Given the description of an element on the screen output the (x, y) to click on. 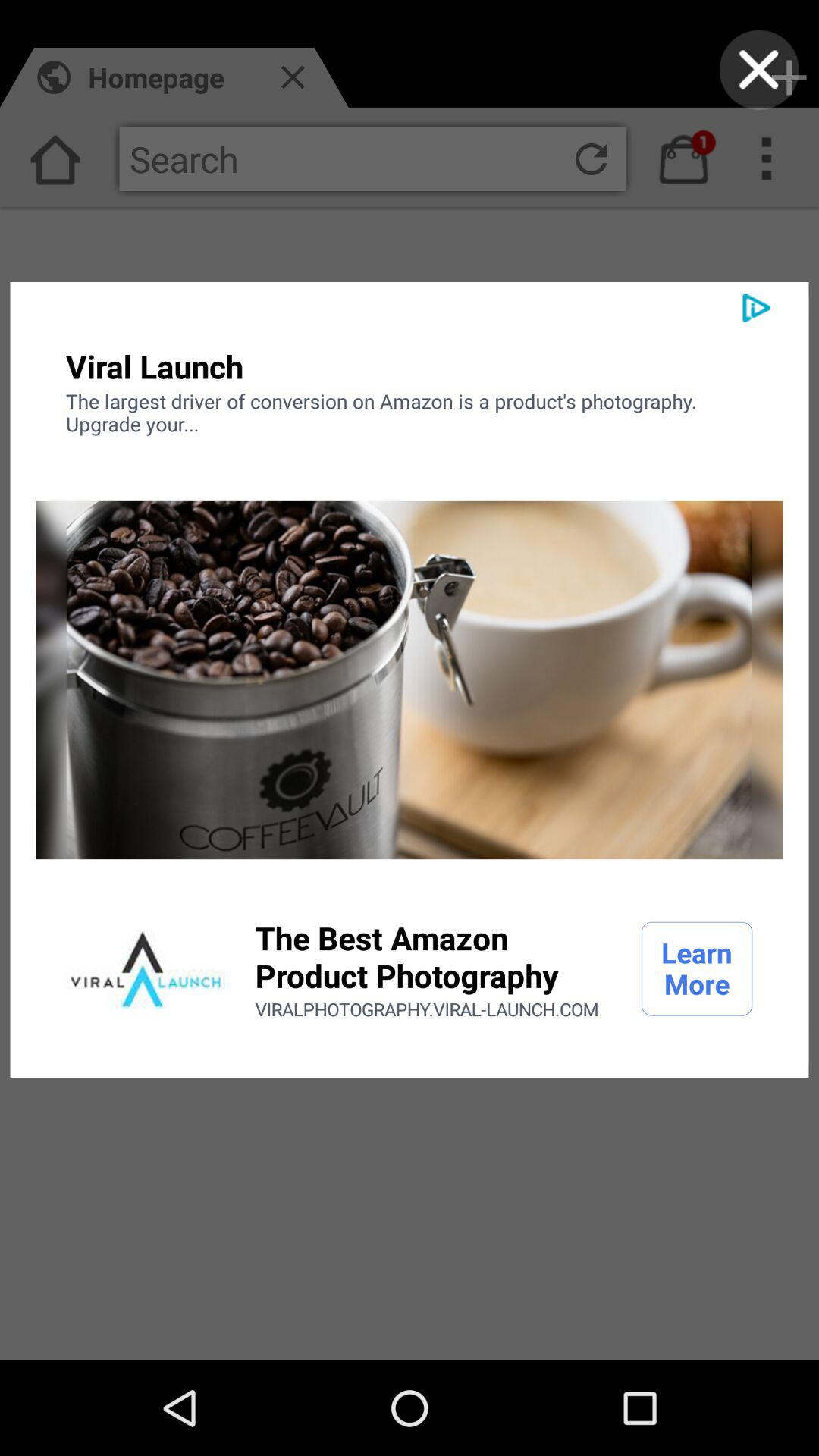
go to advertised product depicted in the banner advertisement logo (145, 968)
